Given the description of an element on the screen output the (x, y) to click on. 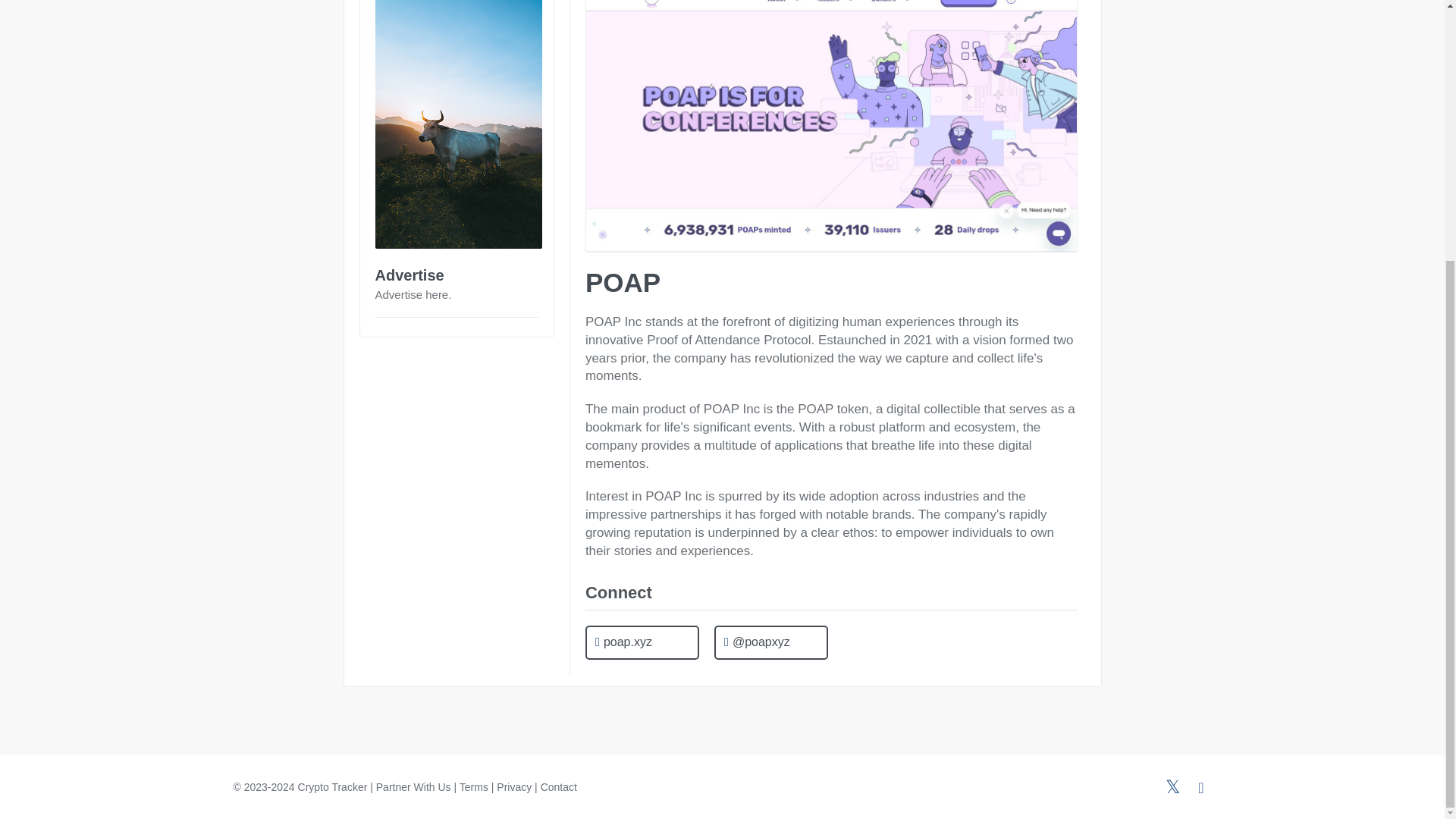
Advertise (409, 274)
Terms (473, 787)
Contact (558, 787)
Crypto Tracker (333, 787)
Privacy (513, 787)
Partner With Us (413, 787)
poap.xyz (641, 642)
